Given the description of an element on the screen output the (x, y) to click on. 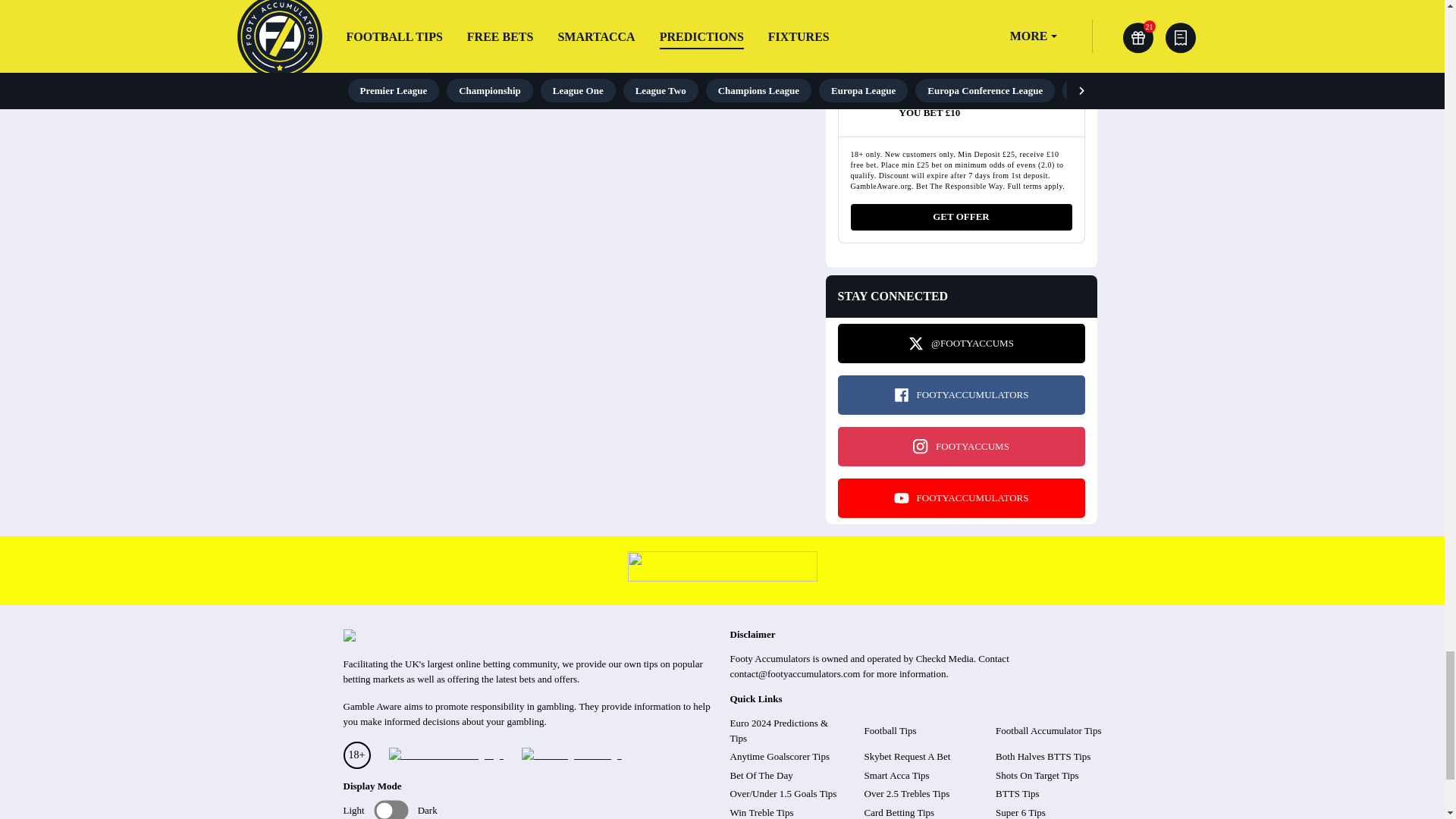
Facebook Logo (900, 394)
YouTube Logo (900, 498)
Take time to think campaign link (721, 577)
GamblingCare.ie (571, 754)
Be gamble aware campaign (445, 754)
